Given the description of an element on the screen output the (x, y) to click on. 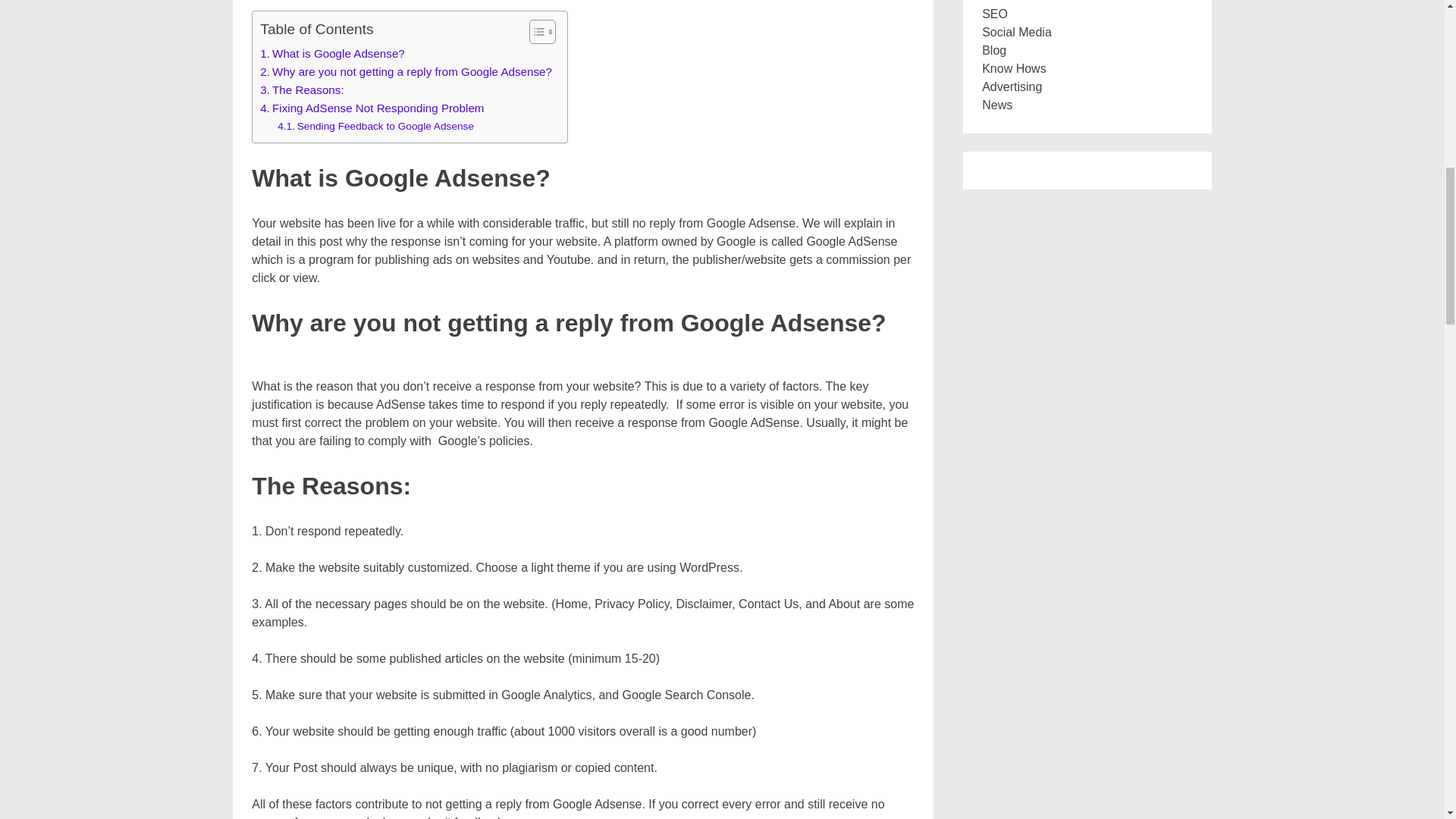
Fixing AdSense Not Responding Problem (371, 108)
The Reasons: (301, 90)
Sending Feedback to Google Adsense (376, 126)
Why are you not getting a reply from Google Adsense? (405, 72)
Sending Feedback to Google Adsense (376, 126)
The Reasons: (301, 90)
What is Google Adsense? (332, 54)
Fixing AdSense Not Responding Problem (371, 108)
Why are you not getting a reply from Google Adsense? (405, 72)
What is Google Adsense? (332, 54)
